Given the description of an element on the screen output the (x, y) to click on. 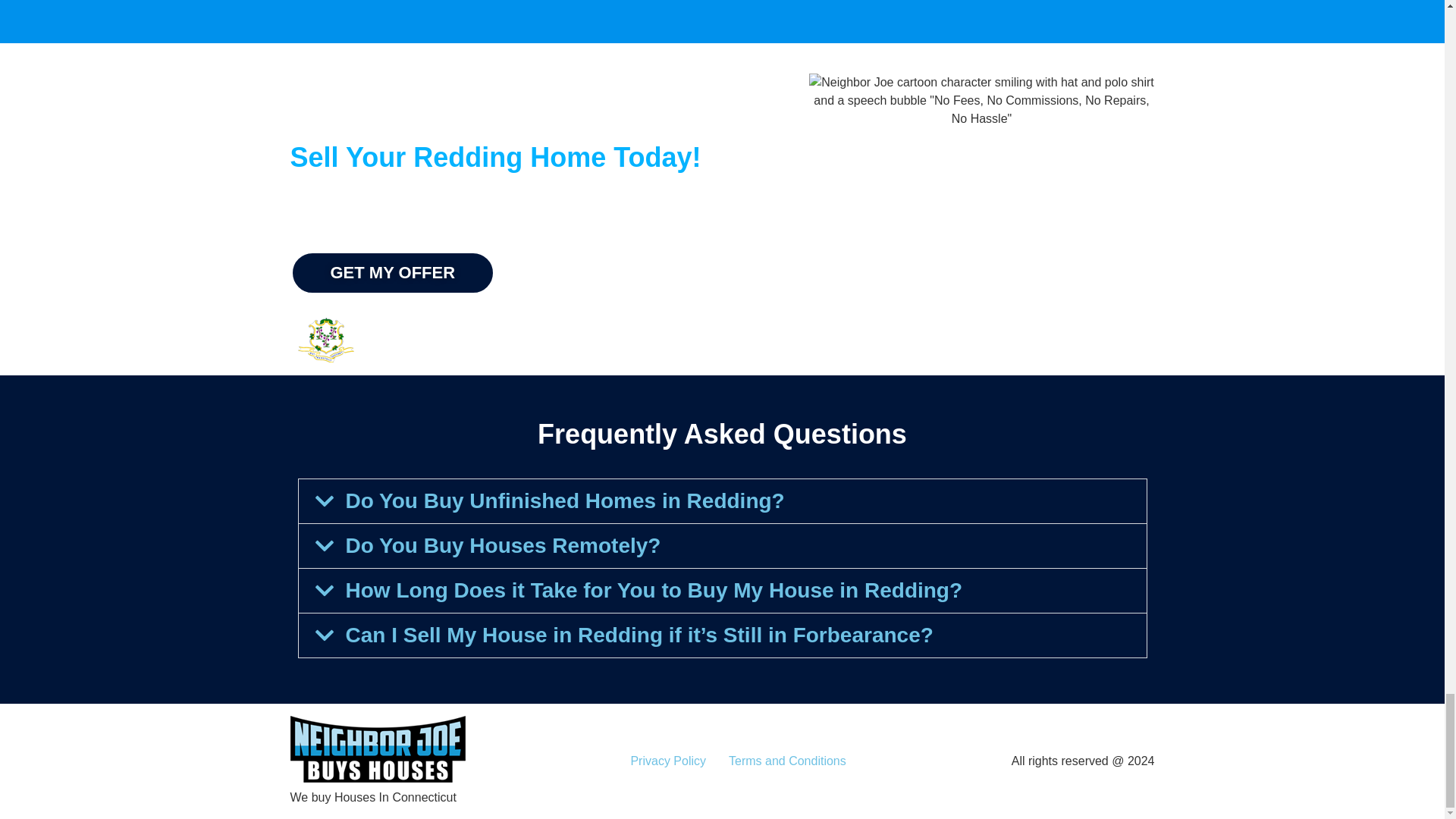
Privacy Policy (667, 760)
GET MY OFFER (392, 272)
Terms and Conditions (787, 760)
Do You Buy Unfinished Homes in Redding? (565, 500)
How Long Does it Take for You to Buy My House in Redding? (654, 589)
Do You Buy Houses Remotely? (503, 545)
